Given the description of an element on the screen output the (x, y) to click on. 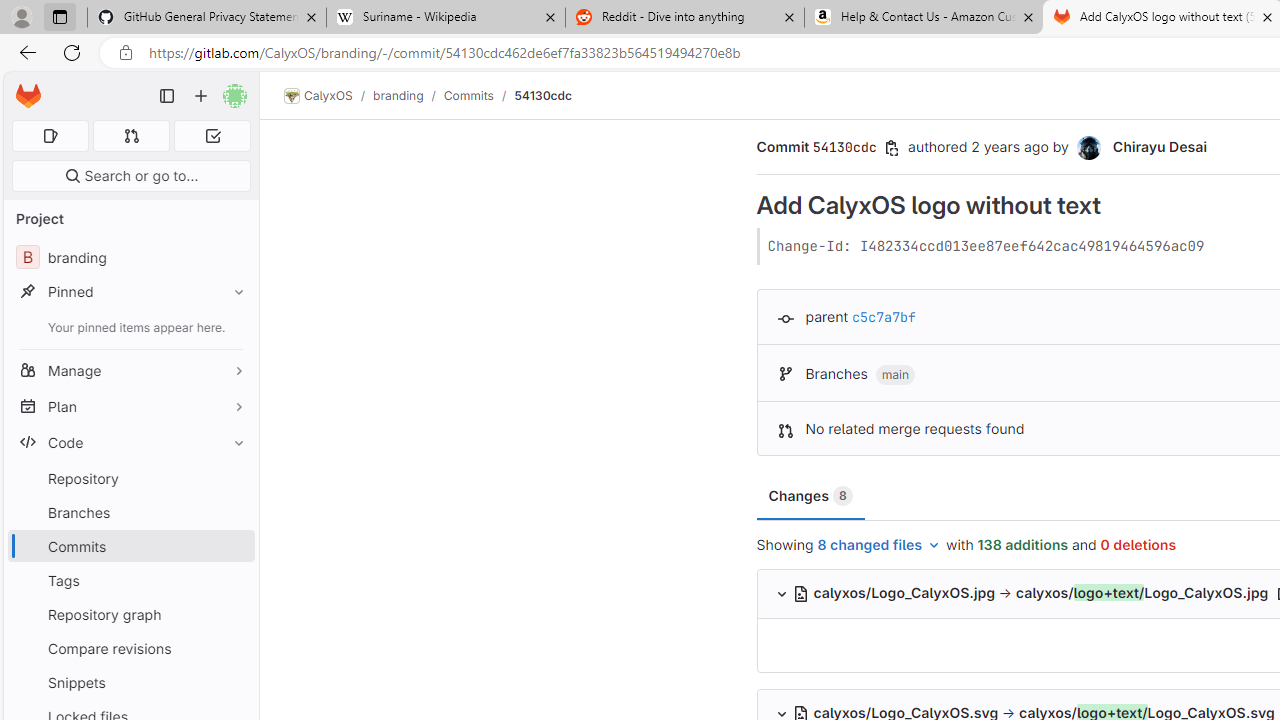
Commits/ (478, 95)
B branding (130, 257)
Repository (130, 478)
Class: s16 chevron-down (781, 594)
Pin Compare revisions (234, 647)
Branches (130, 512)
Commits (130, 546)
Compare revisions (130, 648)
Pin Snippets (234, 682)
Changes 8 (810, 496)
Assigned issues 0 (50, 136)
Branches (130, 512)
Chirayu Desai's avatar (1088, 148)
Create new... (201, 96)
